Given the description of an element on the screen output the (x, y) to click on. 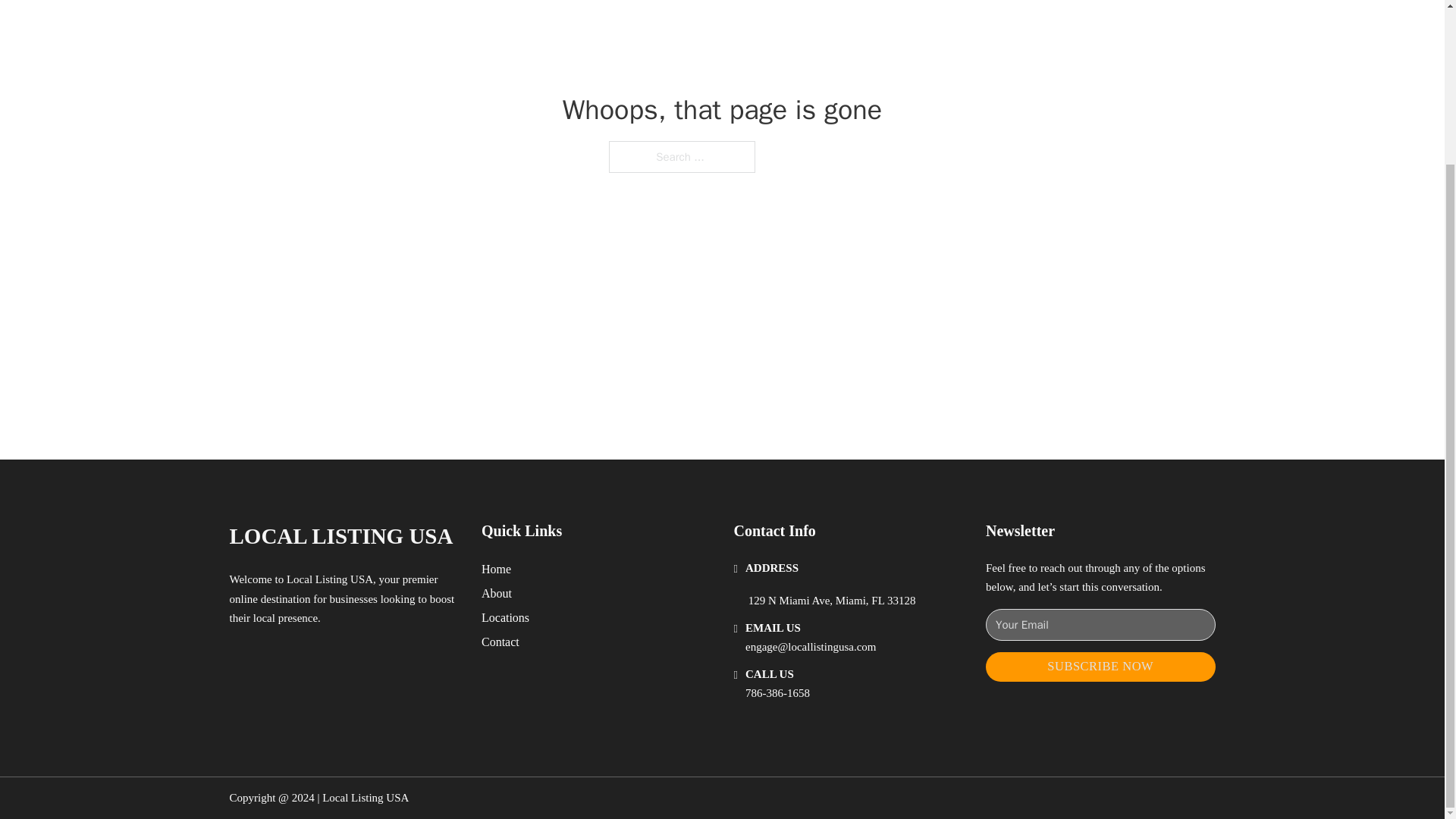
About (496, 593)
SUBSCRIBE NOW (1100, 666)
786-386-1658 (777, 693)
LOCAL LISTING USA (340, 536)
Home (496, 568)
Locations (505, 617)
Contact (500, 641)
